Given the description of an element on the screen output the (x, y) to click on. 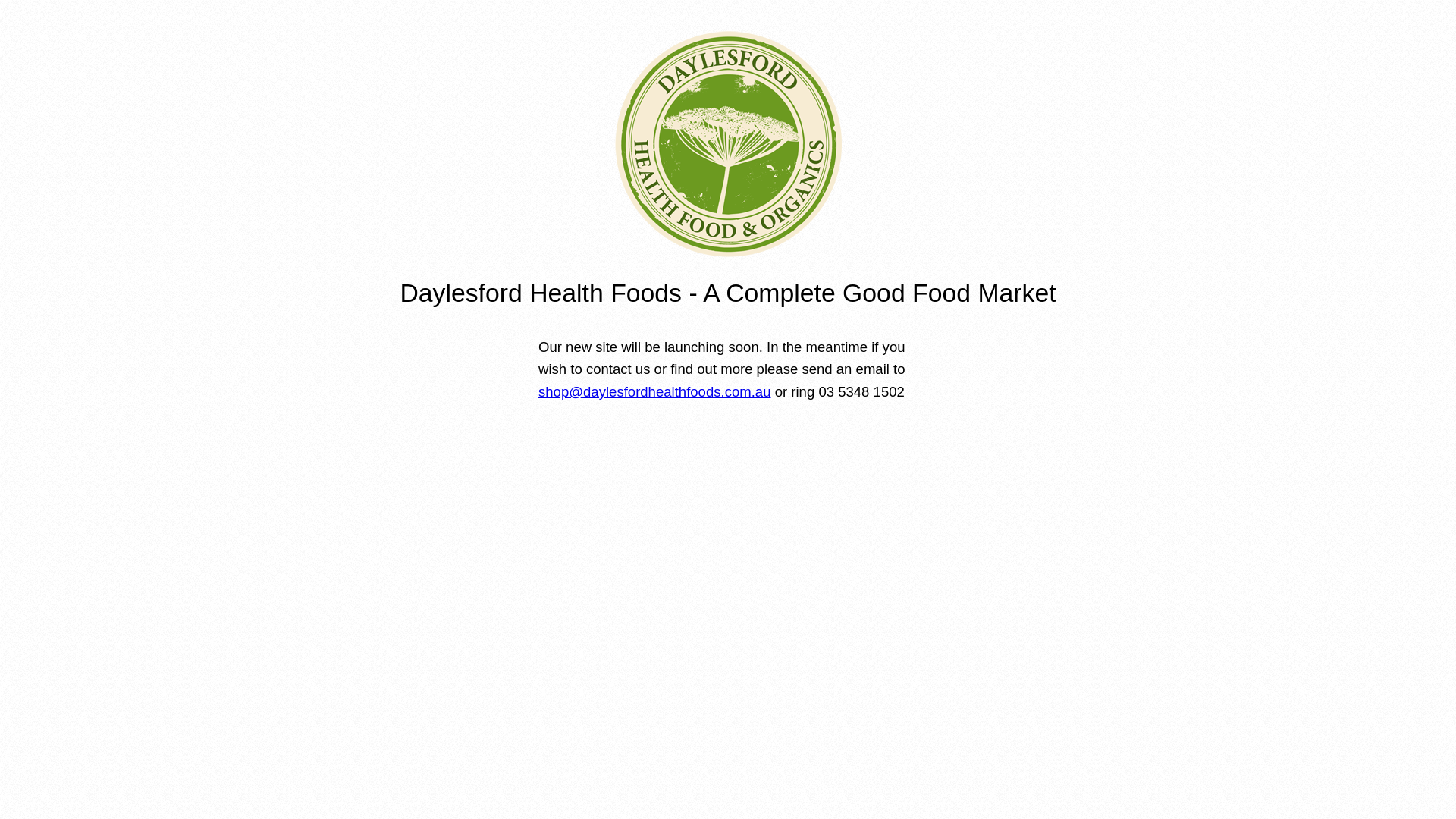
shop@daylesfordhealthfoods.com.au Element type: text (654, 391)
